Given the description of an element on the screen output the (x, y) to click on. 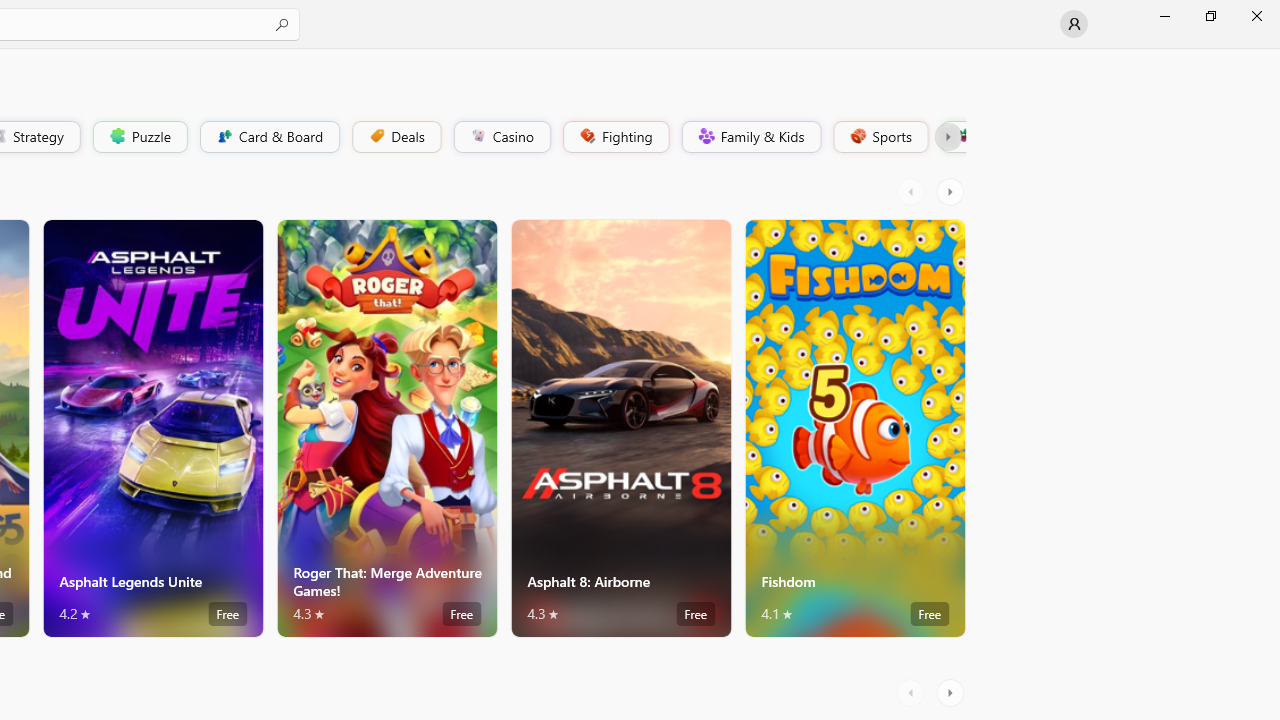
Minimize Microsoft Store (1164, 15)
Family & Kids (750, 136)
